Given the description of an element on the screen output the (x, y) to click on. 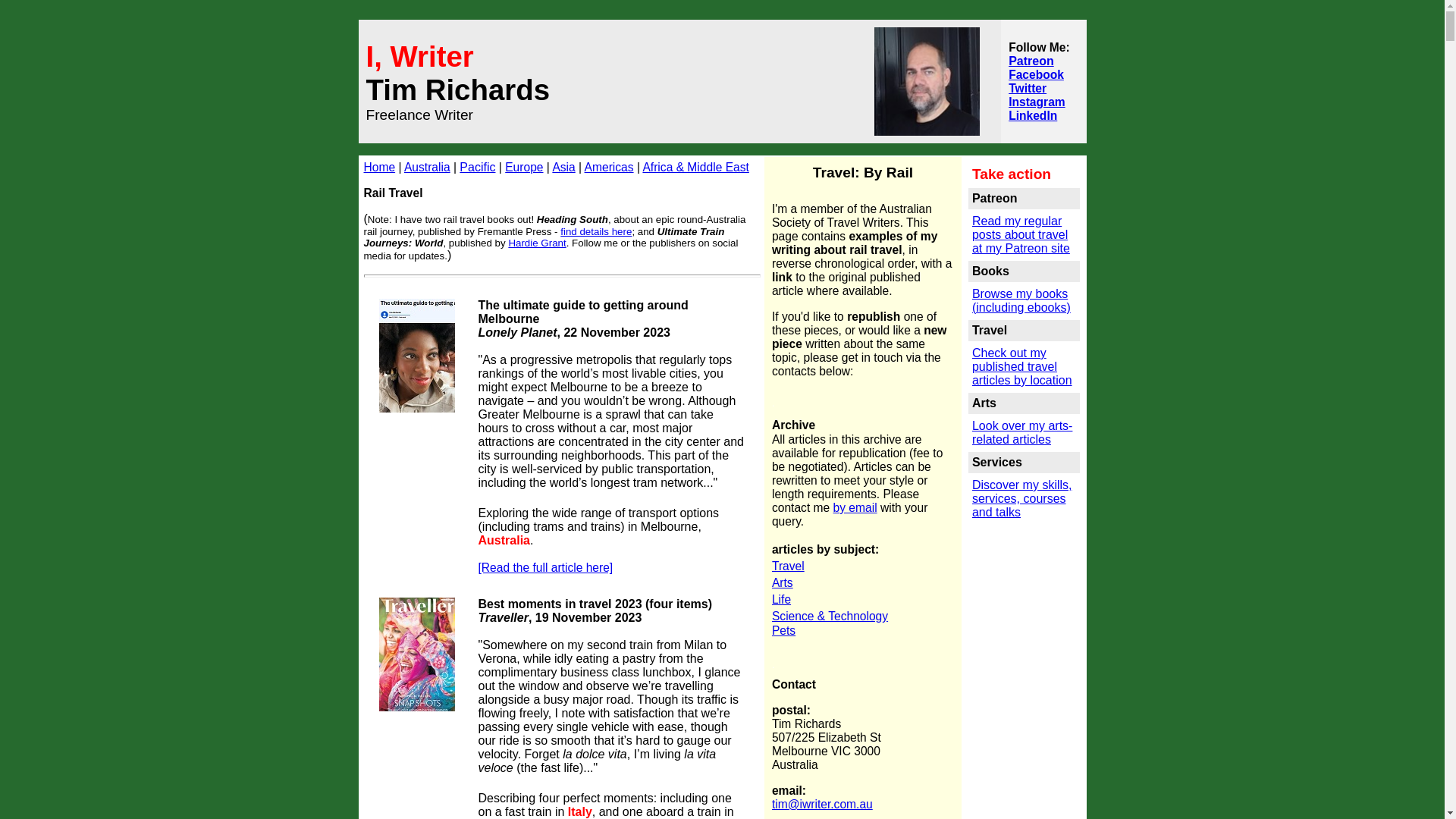
find details here Element type: text (595, 231)
Browse my books (including ebooks) Element type: text (1021, 300)
Read my regular posts about travel at my Patreon site Element type: text (1021, 234)
by email Element type: text (855, 507)
LinkedIn Element type: text (1032, 115)
Look over my arts-related articles Element type: text (1022, 432)
Arts Element type: text (782, 582)
Africa & Middle East Element type: text (695, 166)
Australia Element type: text (427, 166)
Pets Element type: text (783, 630)
Discover my skills, services, courses and talks Element type: text (1022, 498)
Patreon Element type: text (1031, 60)
Science & Technology Element type: text (829, 615)
Instagram Element type: text (1036, 101)
Travel Element type: text (787, 565)
Facebook Element type: text (1035, 74)
Asia Element type: text (563, 166)
Twitter Element type: text (1027, 87)
Home Element type: text (379, 166)
Europe Element type: text (523, 166)
Life Element type: text (780, 599)
Pacific Element type: text (477, 166)
[Read the full article here] Element type: text (544, 566)
Hardie Grant Element type: text (536, 242)
Americas Element type: text (608, 166)
tim@iwriter.com.au Element type: text (821, 803)
Check out my published travel articles by location Element type: text (1022, 366)
